Given the description of an element on the screen output the (x, y) to click on. 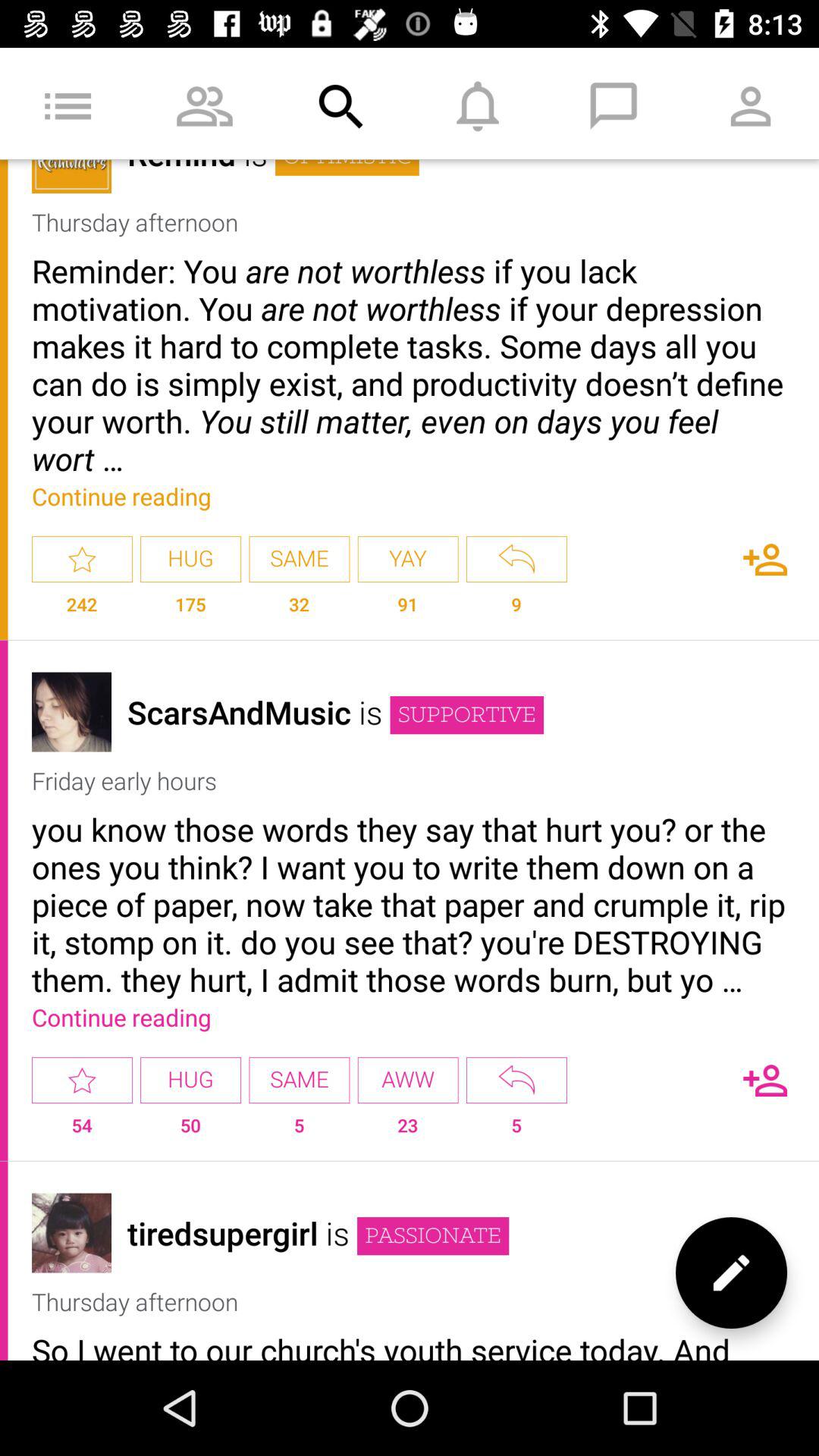
add friend (765, 559)
